Given the description of an element on the screen output the (x, y) to click on. 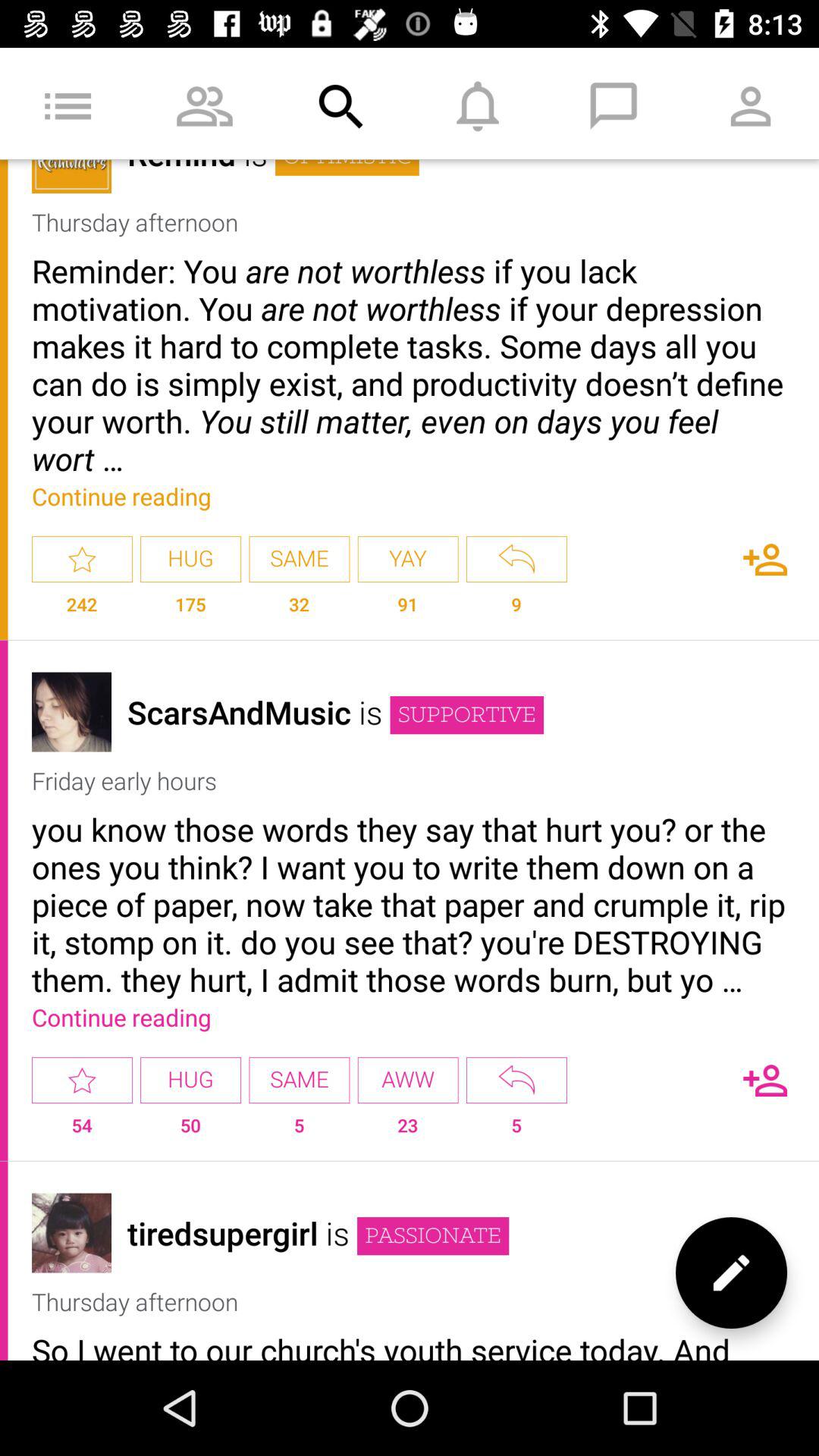
add friend (765, 559)
